Given the description of an element on the screen output the (x, y) to click on. 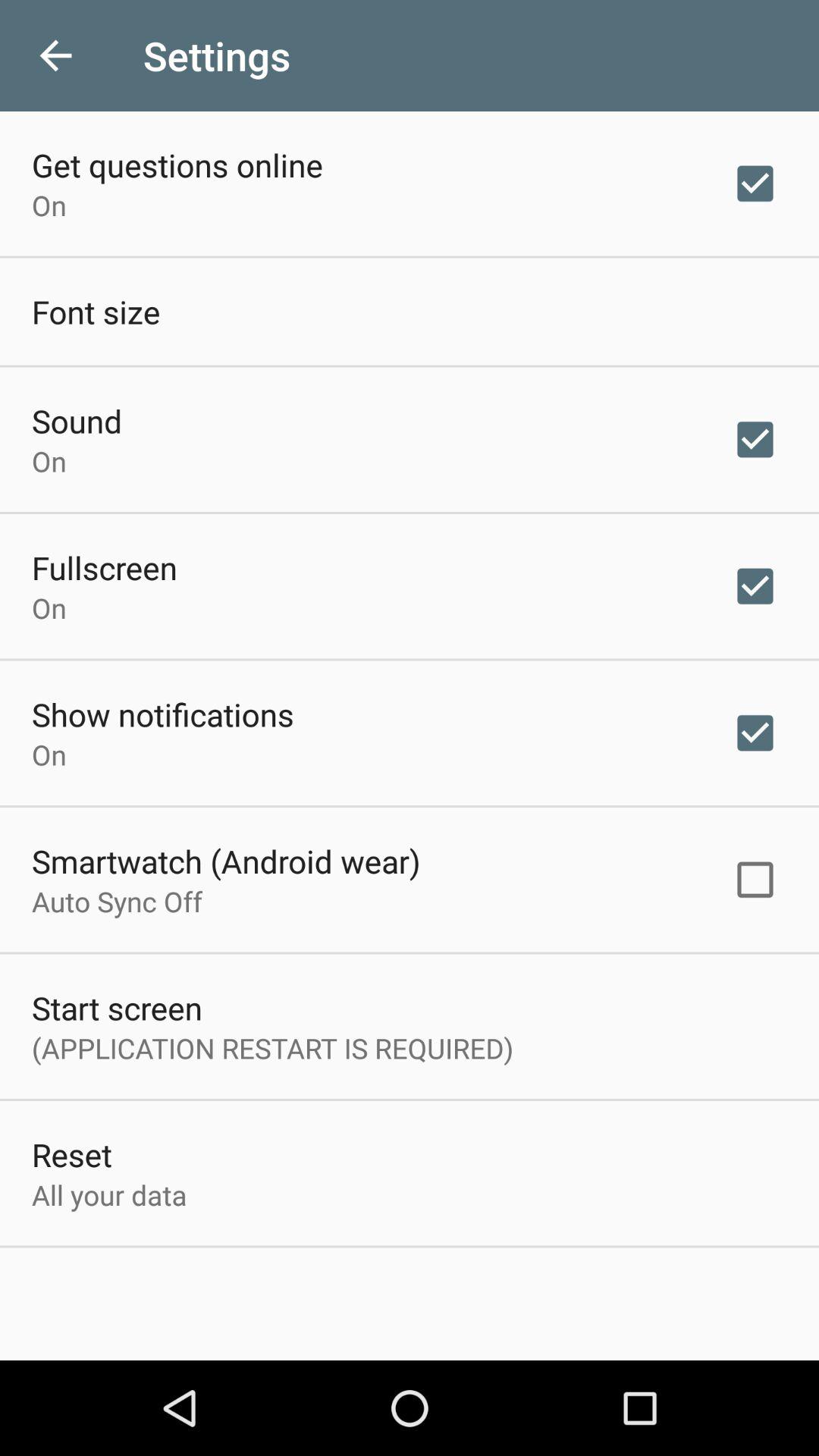
press the icon below font size icon (76, 420)
